Given the description of an element on the screen output the (x, y) to click on. 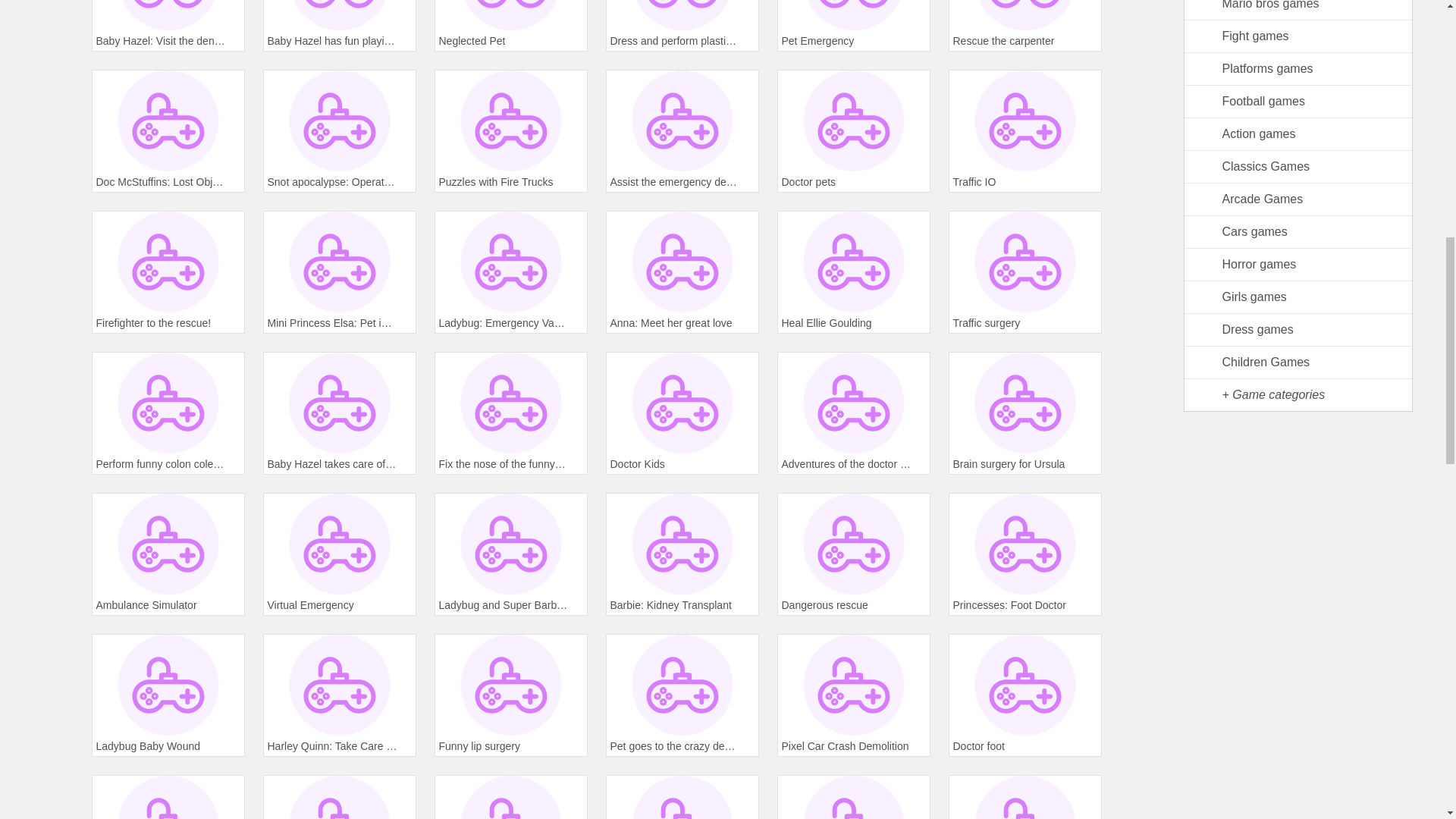
Arcade Games (1298, 199)
Free Mario bros games, Nintendo's Mario Bros. (1298, 10)
Girls games (1298, 297)
Dress games (1298, 329)
Mario bros games (1298, 10)
Football games (1298, 101)
Horror games (1298, 264)
Fight games (1298, 36)
Action games (1298, 133)
Children Games (1298, 362)
Platforms games (1298, 69)
Classics Games (1298, 166)
Cars games (1298, 232)
